Given the description of an element on the screen output the (x, y) to click on. 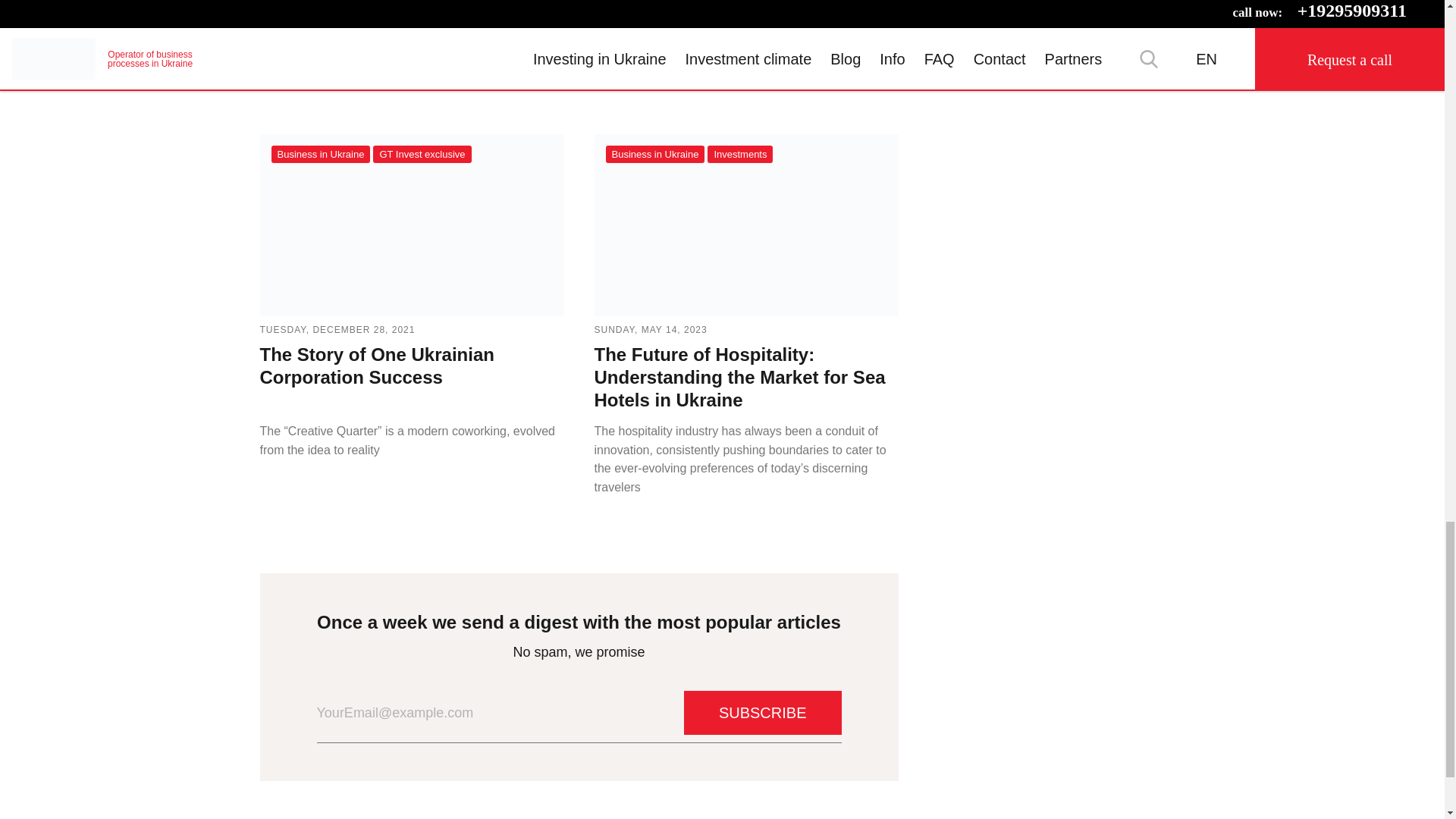
Business in Ukraine (320, 153)
GT Invest exclusive (421, 153)
Investments (740, 153)
Business in Ukraine (654, 153)
